Given the description of an element on the screen output the (x, y) to click on. 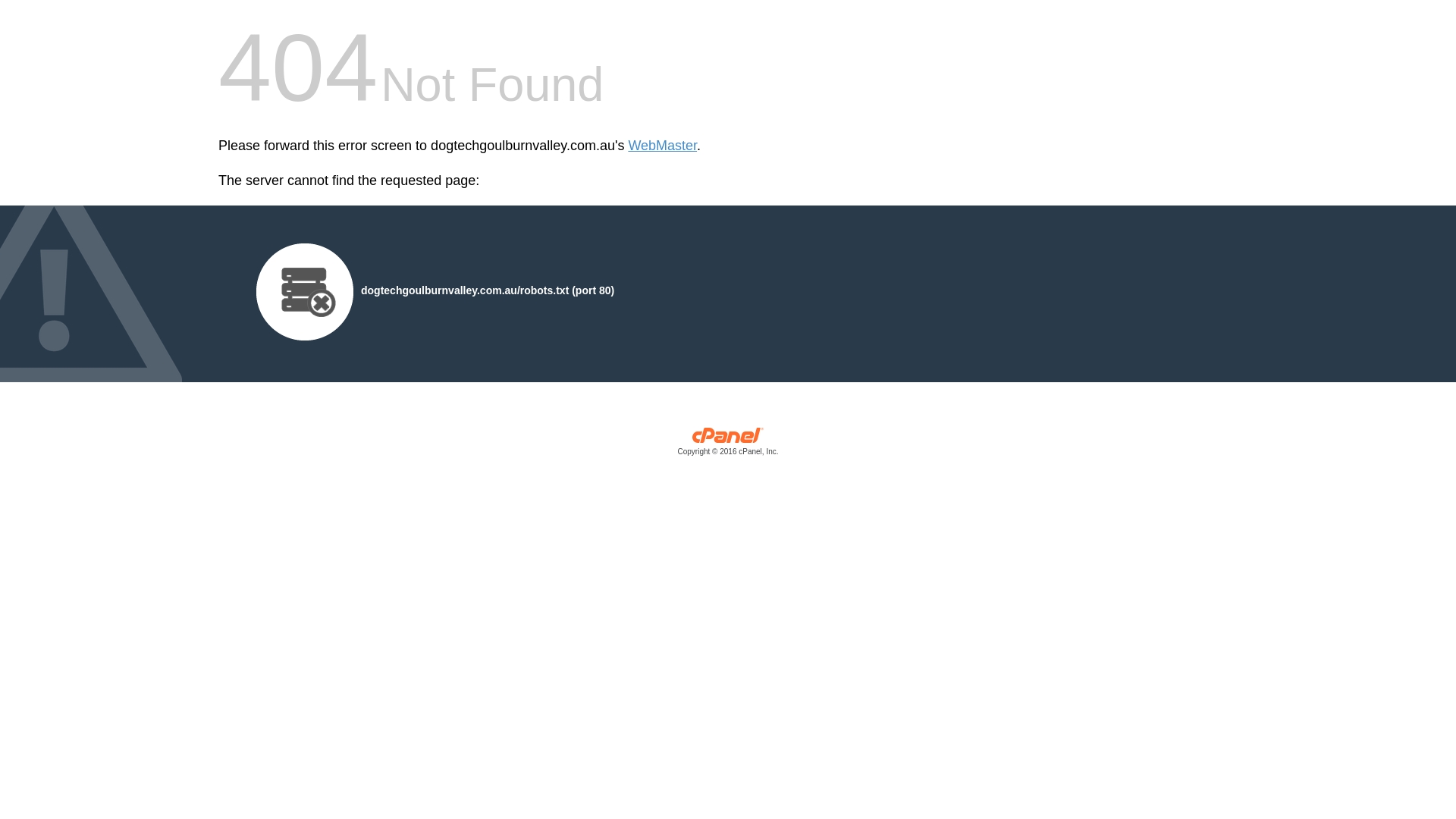
WebMaster Element type: text (661, 145)
